Given the description of an element on the screen output the (x, y) to click on. 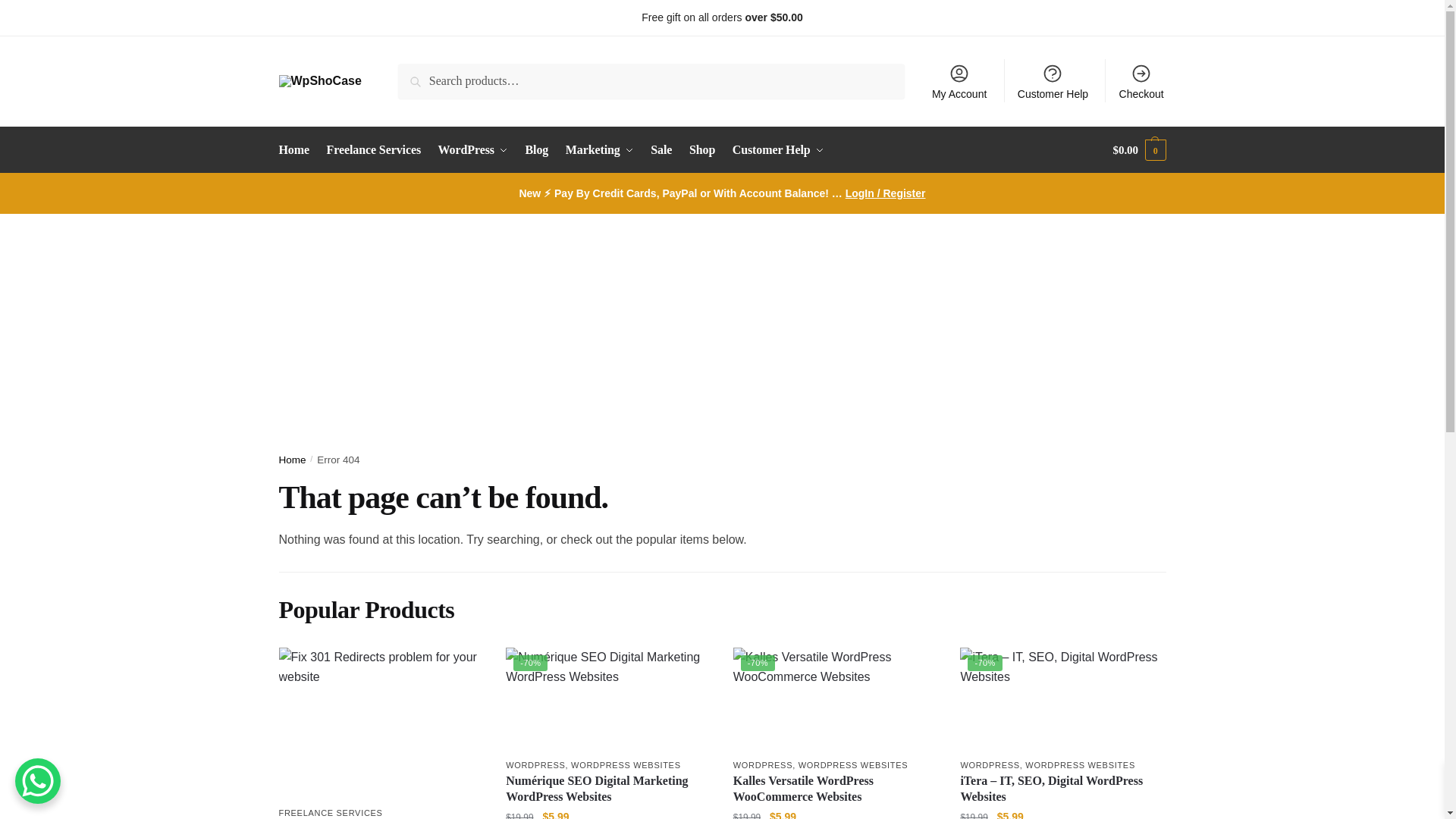
Customer Help (1053, 80)
Freelance Services (1120, 17)
My Account (959, 80)
Support via WhatsApp (331, 17)
Search (419, 74)
Freelance Services (374, 149)
WordPress (472, 149)
Checkout (1141, 80)
